Given the description of an element on the screen output the (x, y) to click on. 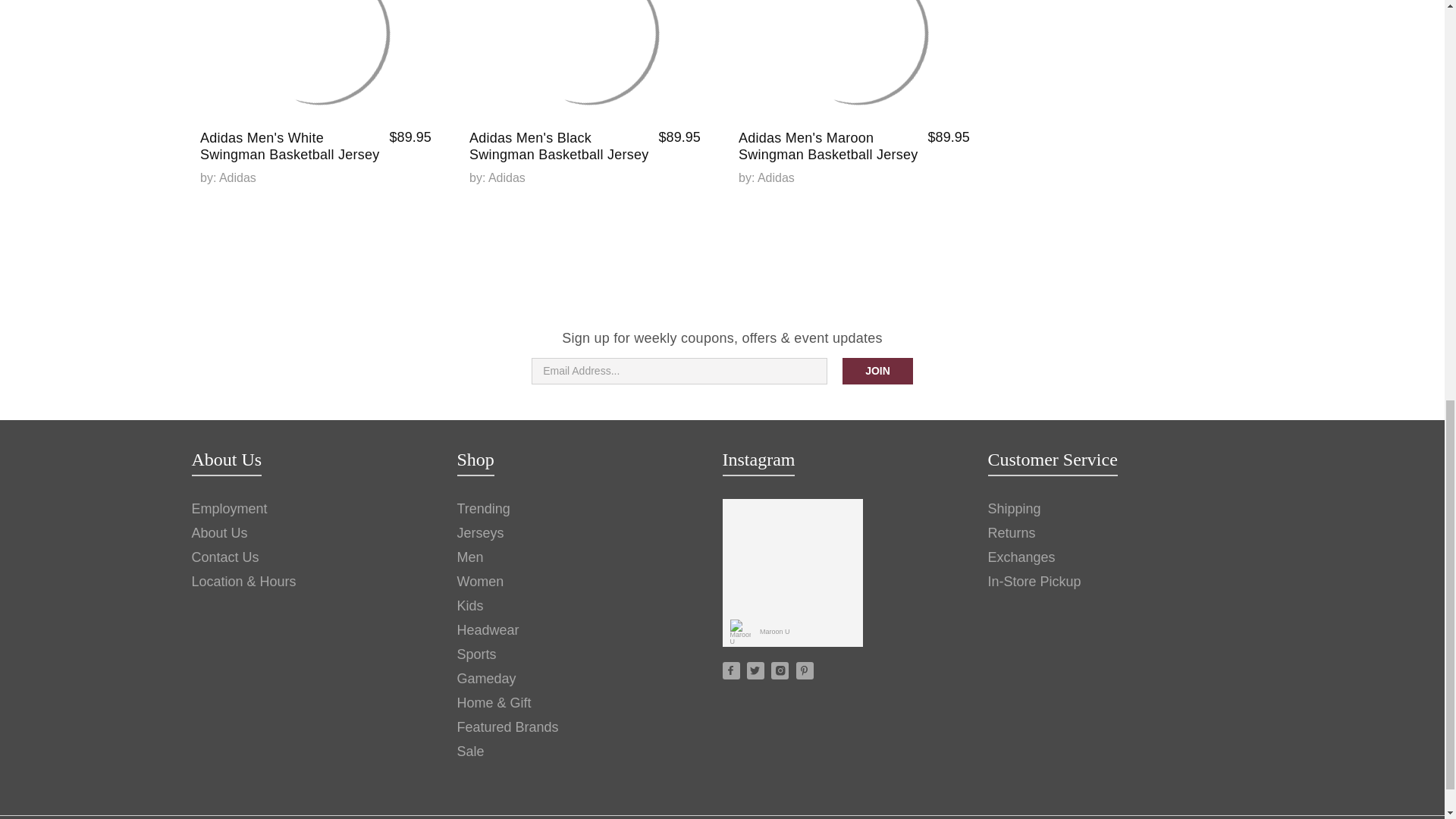
Join (877, 370)
